Given the description of an element on the screen output the (x, y) to click on. 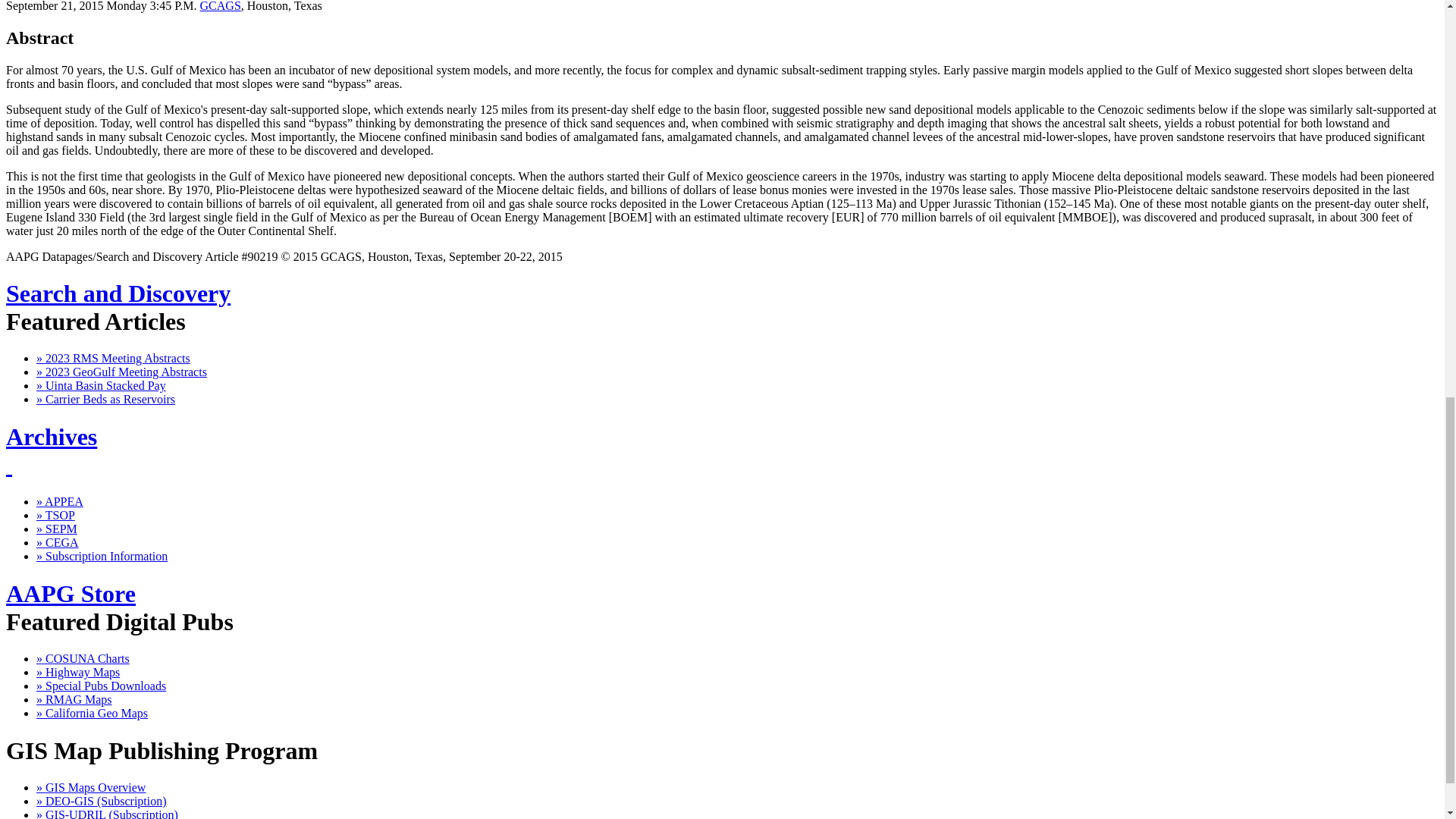
Search and Discovery (117, 293)
GCAGS (220, 6)
